Given the description of an element on the screen output the (x, y) to click on. 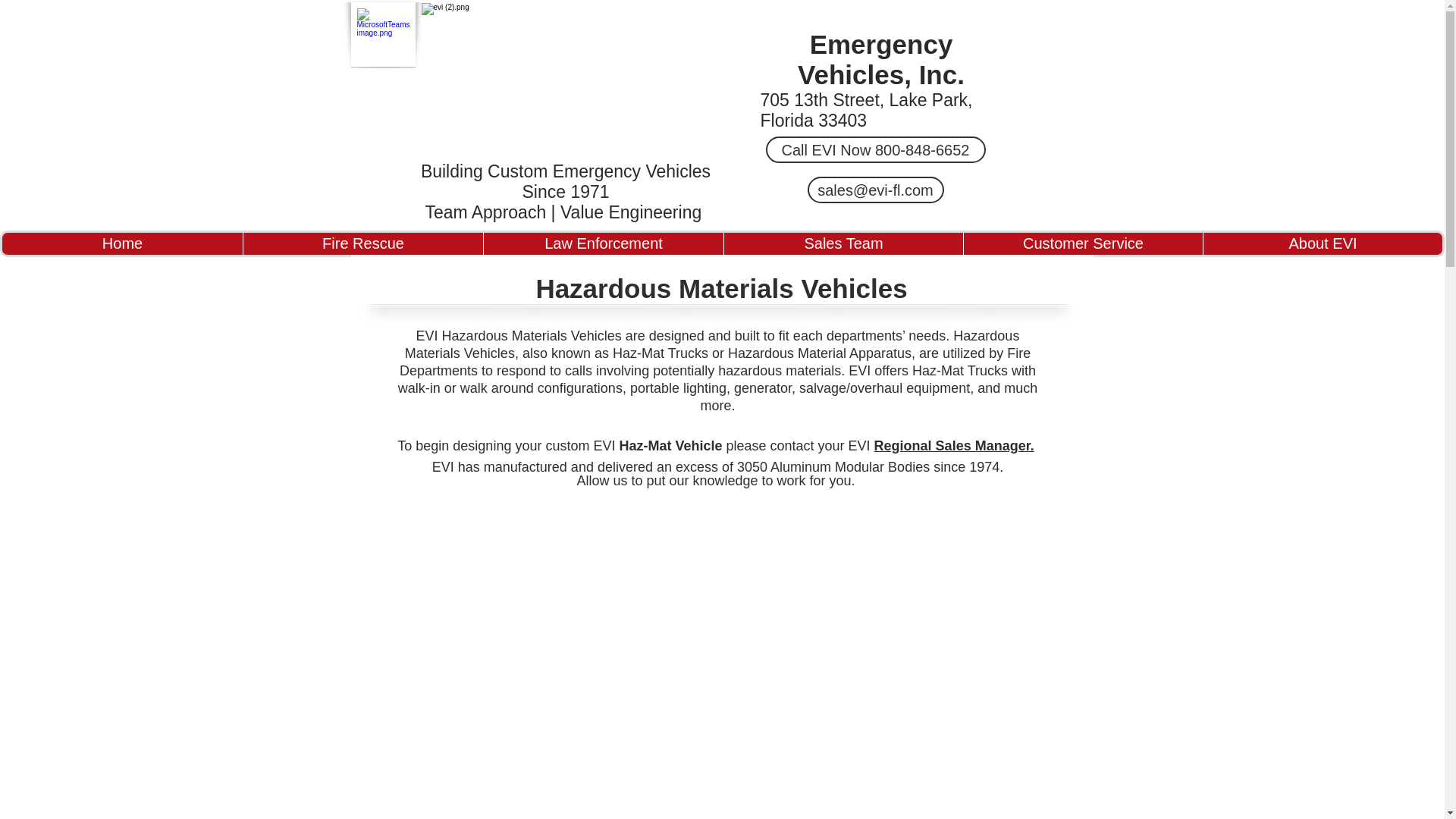
Building Custom Emergency Vehicles Since 1971 (565, 181)
Fire Rescue (363, 243)
Emergency Vehicles, Inc. (880, 59)
Call EVI Now 800-848-6652 (875, 149)
Sales Team (842, 243)
Home (122, 243)
Law Enforcement (603, 243)
